Given the description of an element on the screen output the (x, y) to click on. 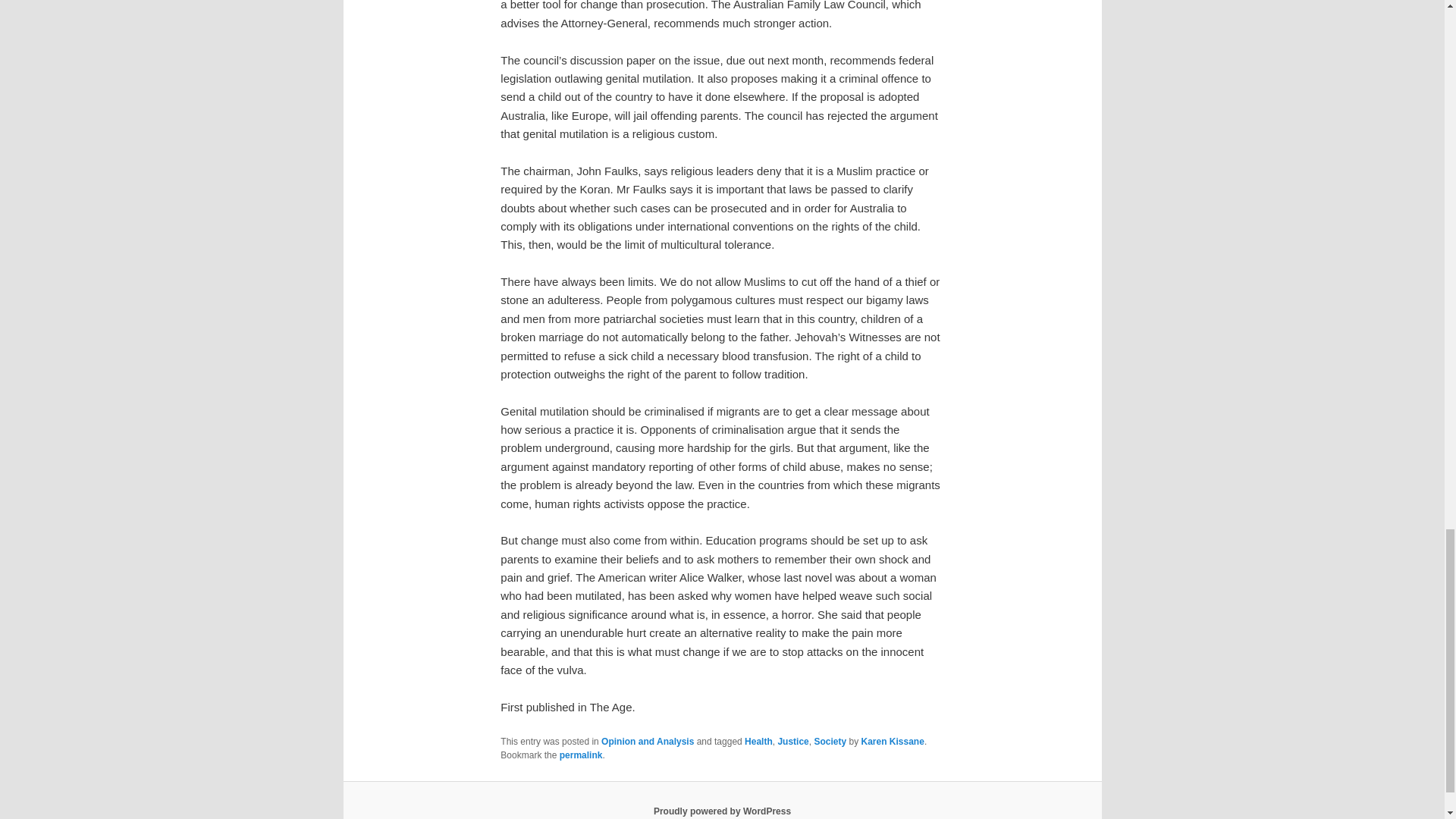
Justice (792, 741)
Semantic Personal Publishing Platform (721, 810)
permalink (580, 755)
Opinion and Analysis (647, 741)
Society (829, 741)
Proudly powered by WordPress (721, 810)
Health (758, 741)
Karen Kissane (892, 741)
